Given the description of an element on the screen output the (x, y) to click on. 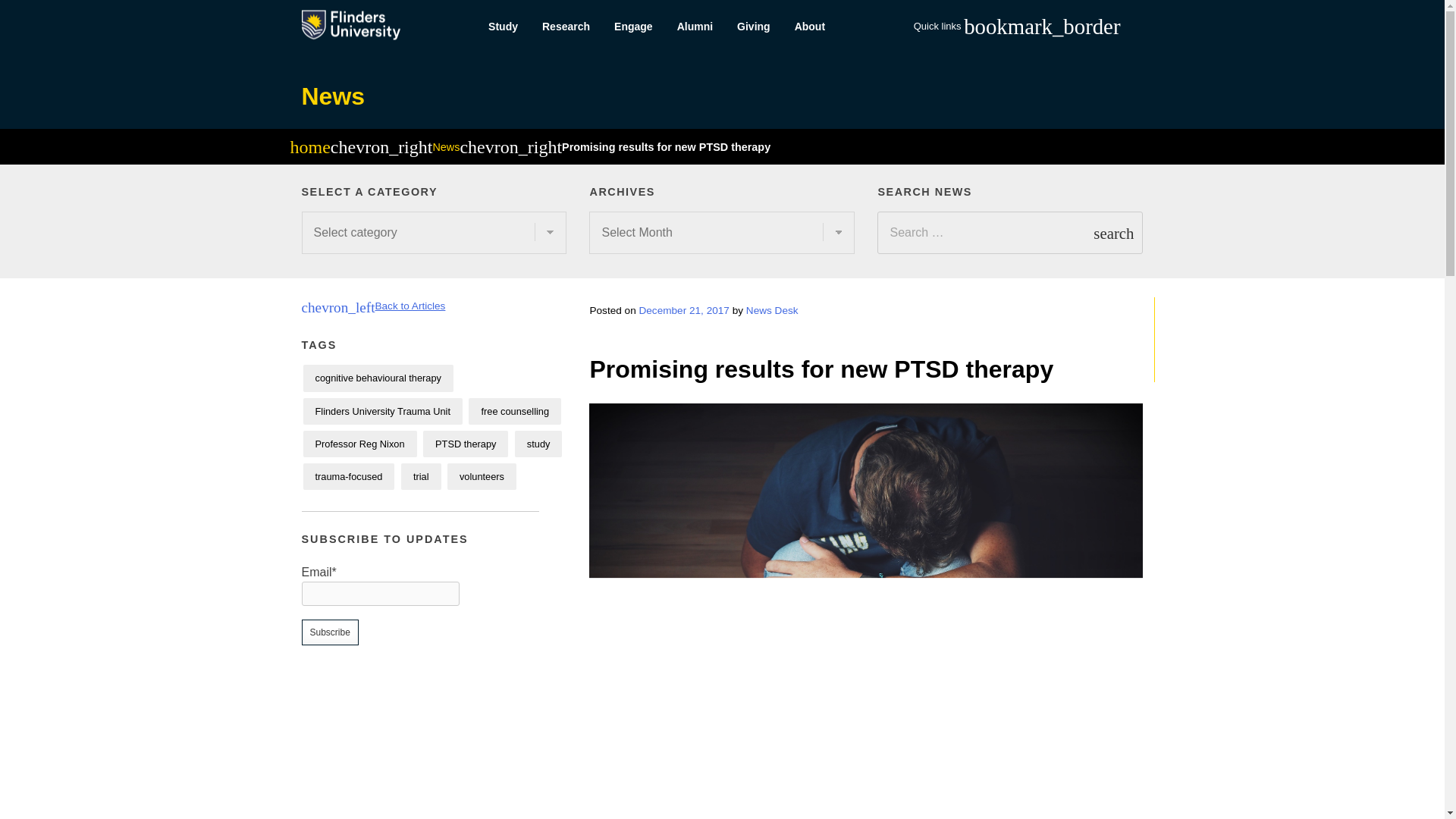
Flinders University Trauma Unit (382, 411)
home (309, 149)
Subscribe (329, 632)
Study (502, 26)
Research (565, 26)
study (538, 443)
About (810, 26)
free counselling (514, 411)
December 21, 2017 (684, 310)
Subscribe (329, 632)
